Given the description of an element on the screen output the (x, y) to click on. 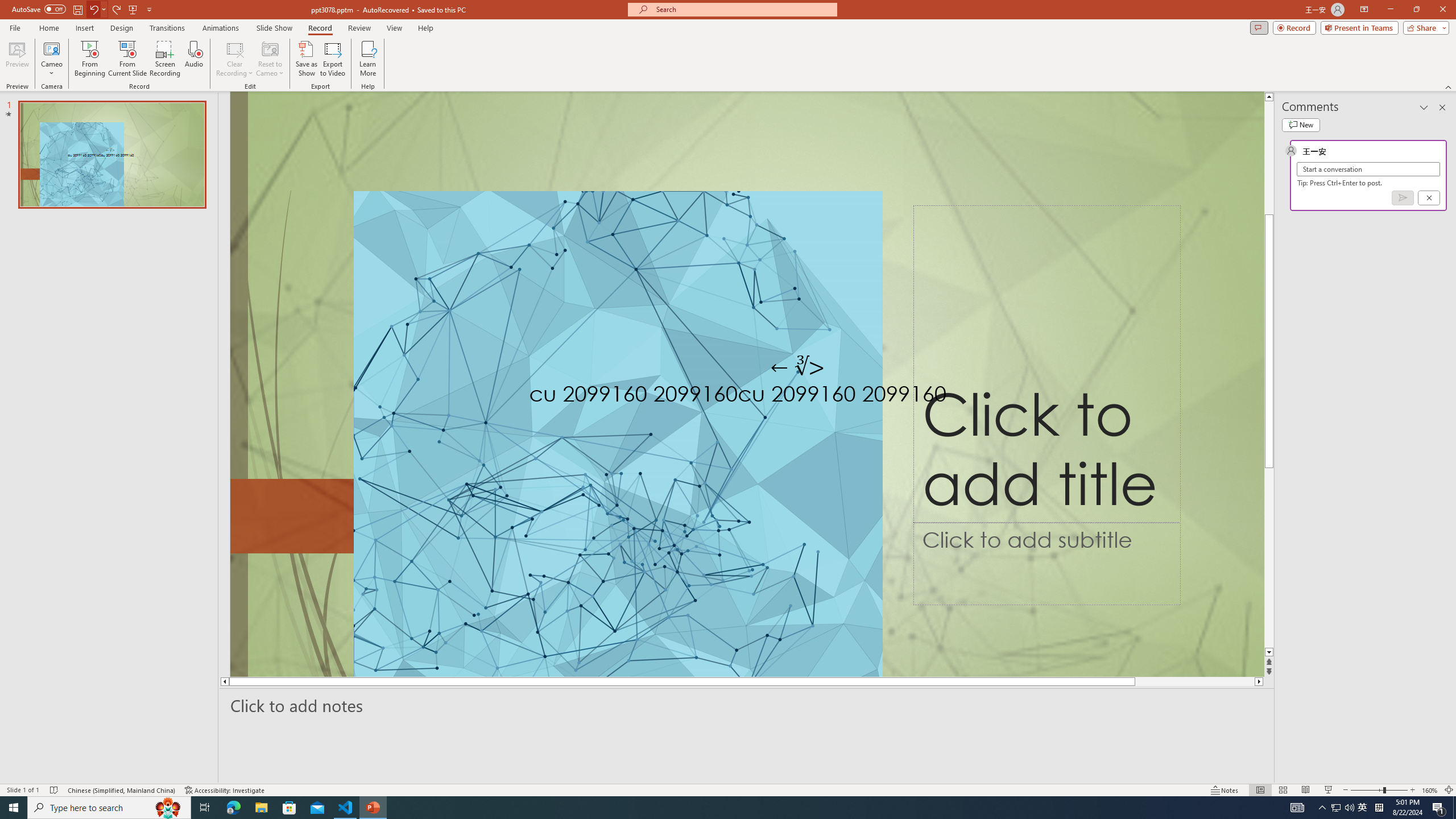
Zoom 160% (1430, 790)
Subtitle TextBox (1046, 563)
Slide Notes (746, 705)
From Current Slide... (127, 58)
